Given the description of an element on the screen output the (x, y) to click on. 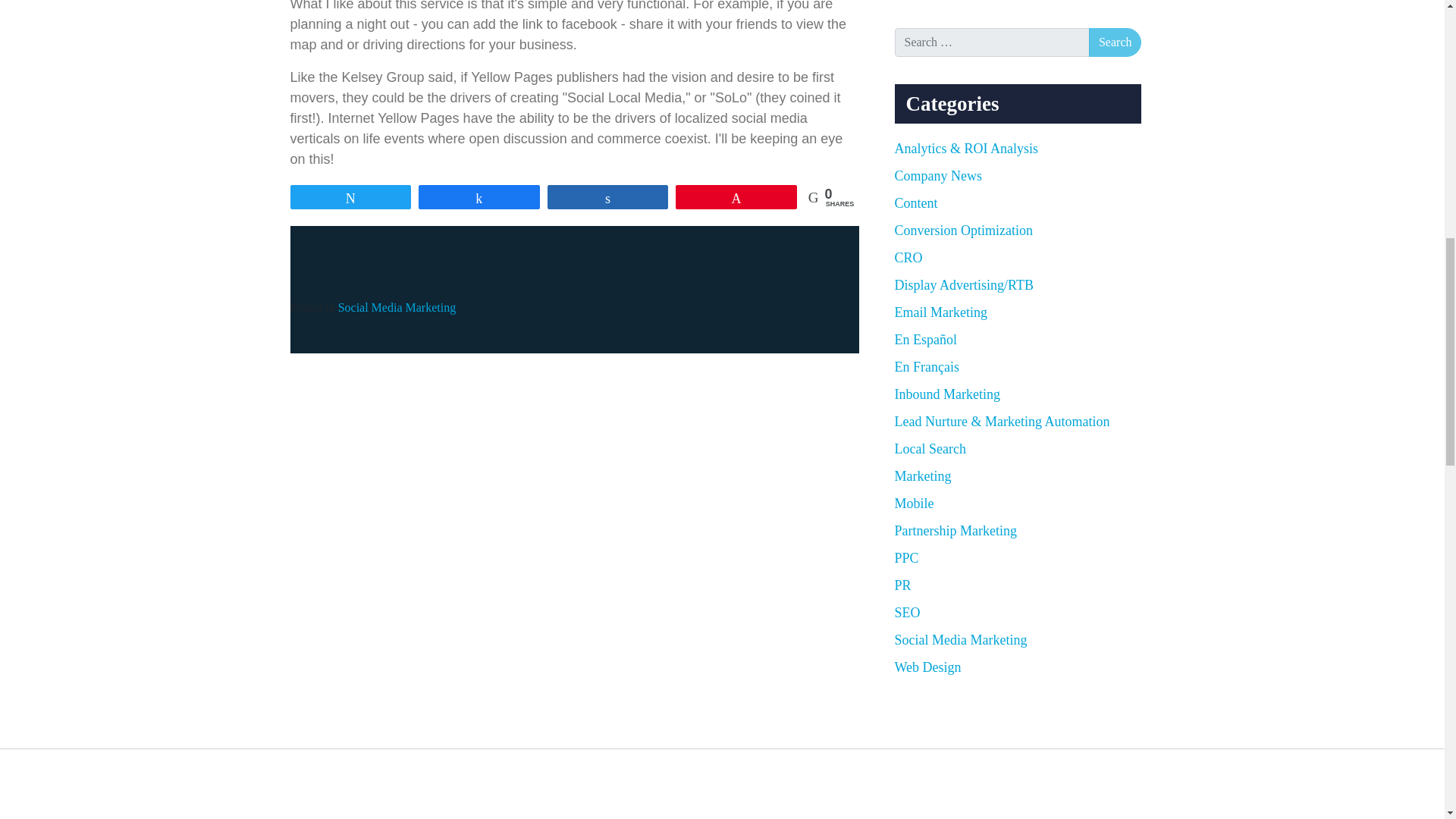
Search (1115, 41)
Social Media Marketing (397, 307)
Search (1115, 41)
